Given the description of an element on the screen output the (x, y) to click on. 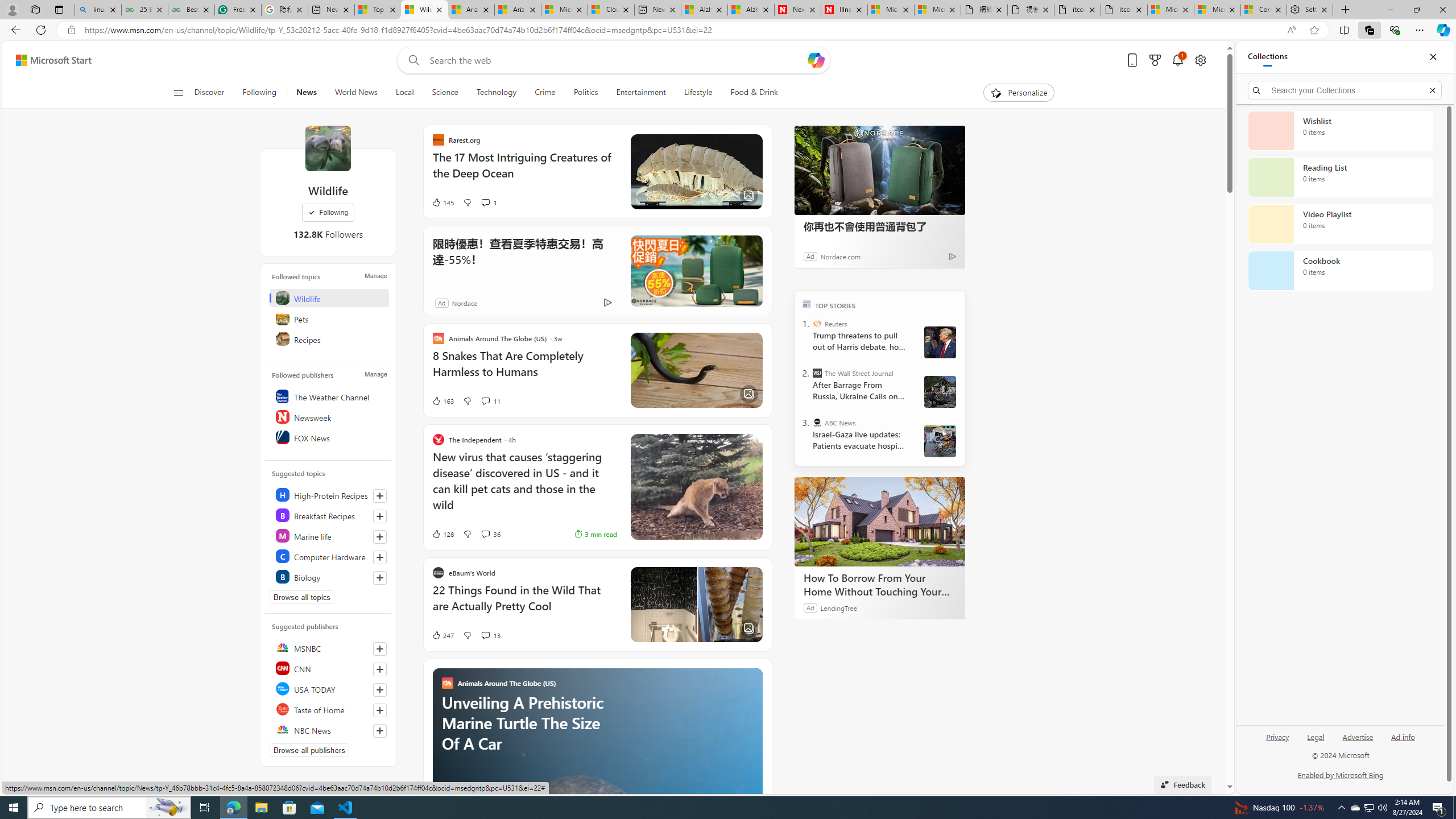
Free AI Writing Assistance for Students | Grammarly (237, 9)
linux basic - Search (97, 9)
Wildlife (327, 148)
163 Like (442, 400)
Search your Collections (1345, 90)
